Given the description of an element on the screen output the (x, y) to click on. 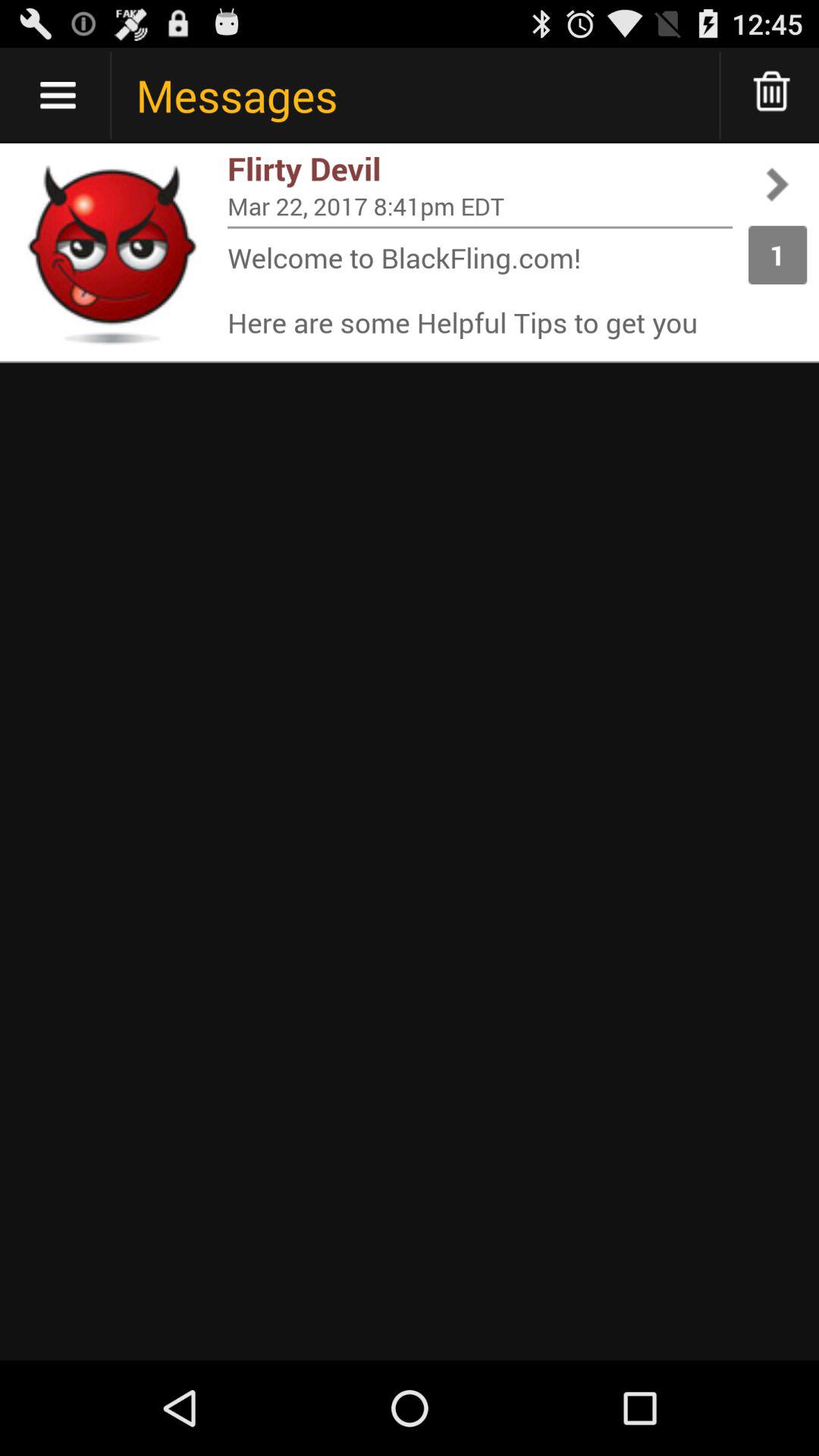
choose app to the left of the 1 item (479, 205)
